Given the description of an element on the screen output the (x, y) to click on. 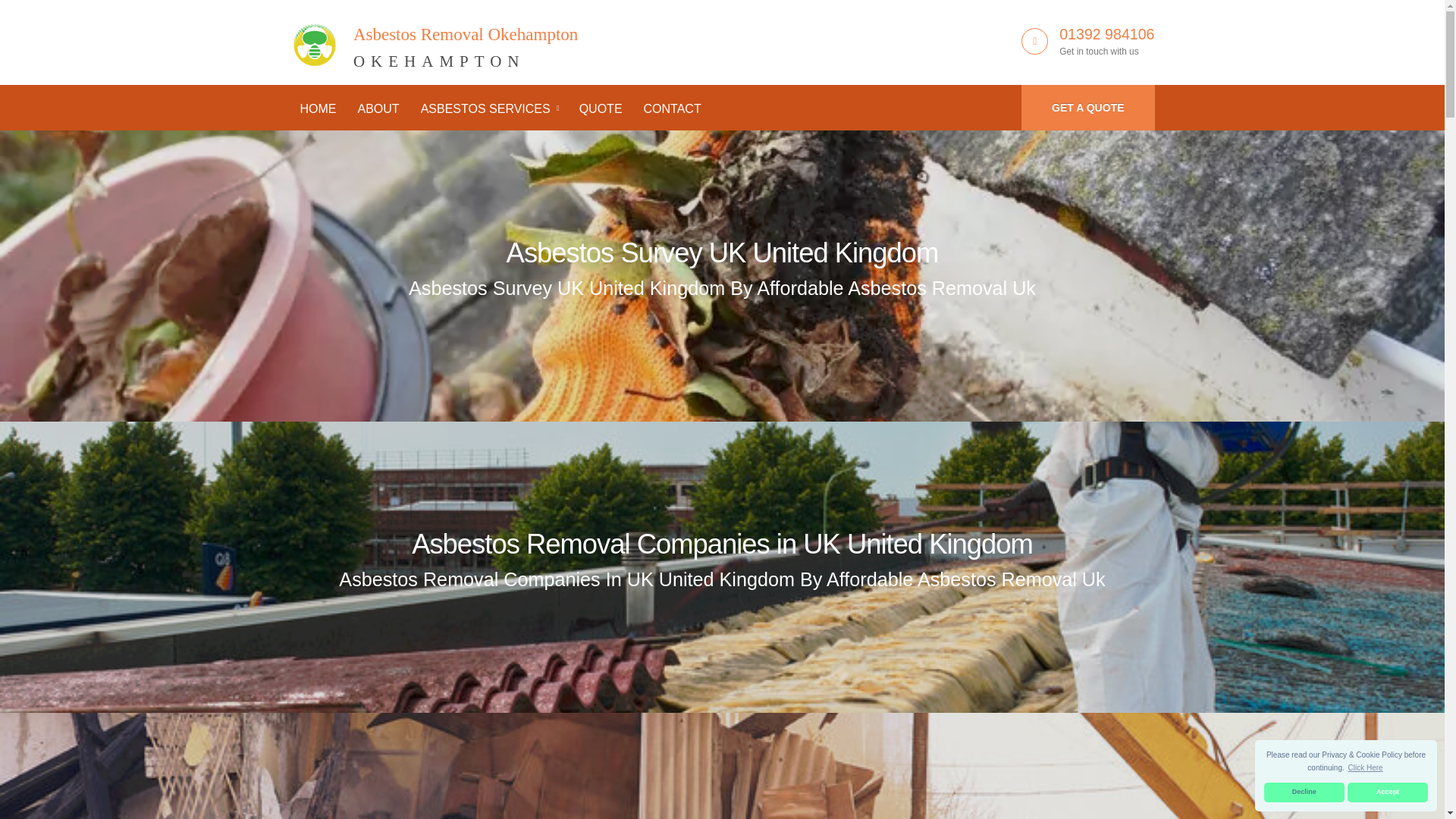
HOME (317, 109)
Asbestos Removal Companies in UK United Kingdom (433, 38)
01392 984106 (722, 543)
Accept (1106, 33)
Decline (1388, 792)
ASBESTOS SERVICES (1303, 792)
QUOTE (488, 109)
Asbestos Survey UK United Kingdom (600, 109)
CONTACT (722, 252)
GET A QUOTE (672, 109)
ABOUT (1088, 107)
Click Here (378, 109)
